Given the description of an element on the screen output the (x, y) to click on. 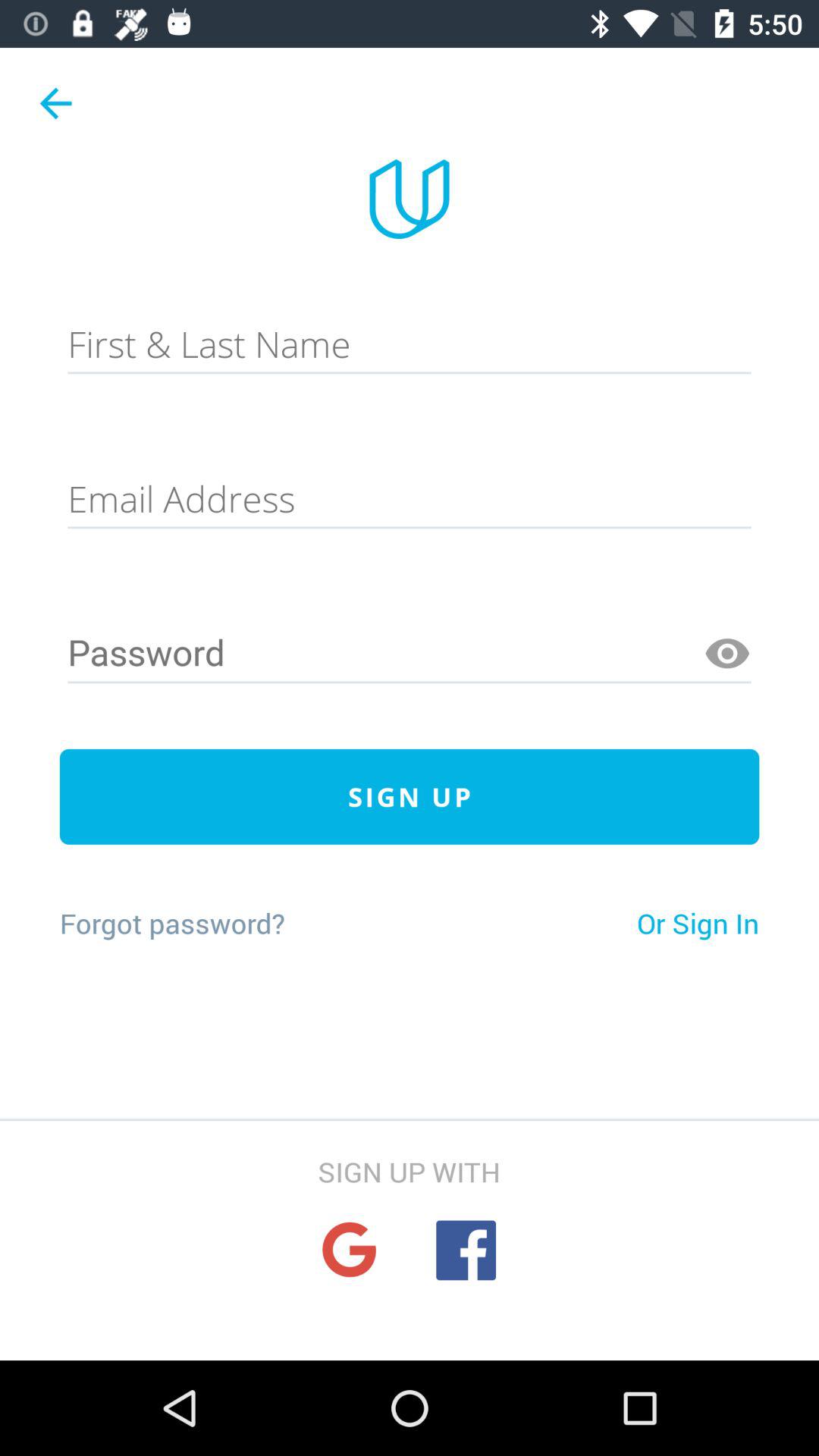
tap icon below sign up (171, 922)
